Given the description of an element on the screen output the (x, y) to click on. 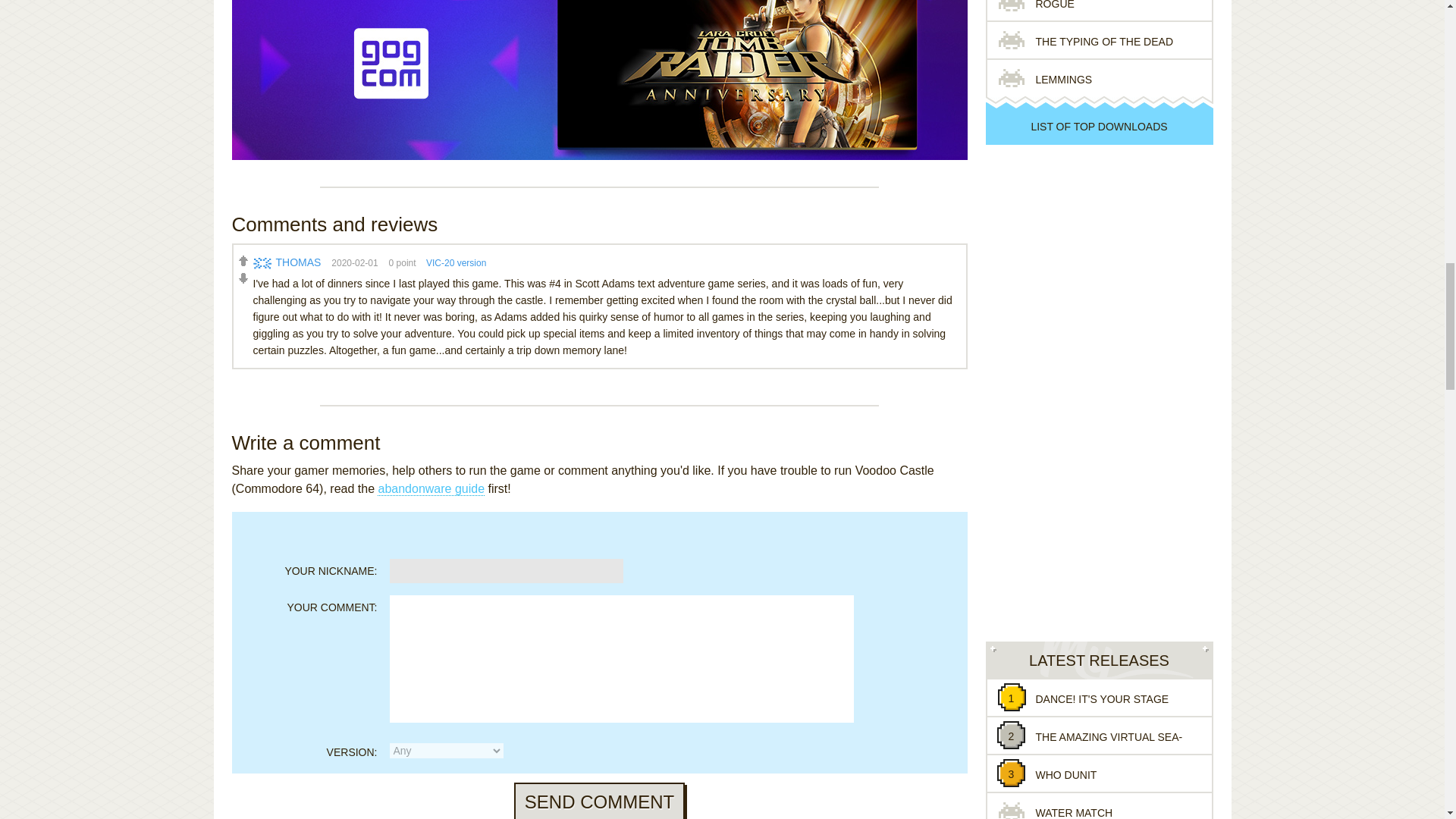
See the Top 40 Games (1098, 126)
